Given the description of an element on the screen output the (x, y) to click on. 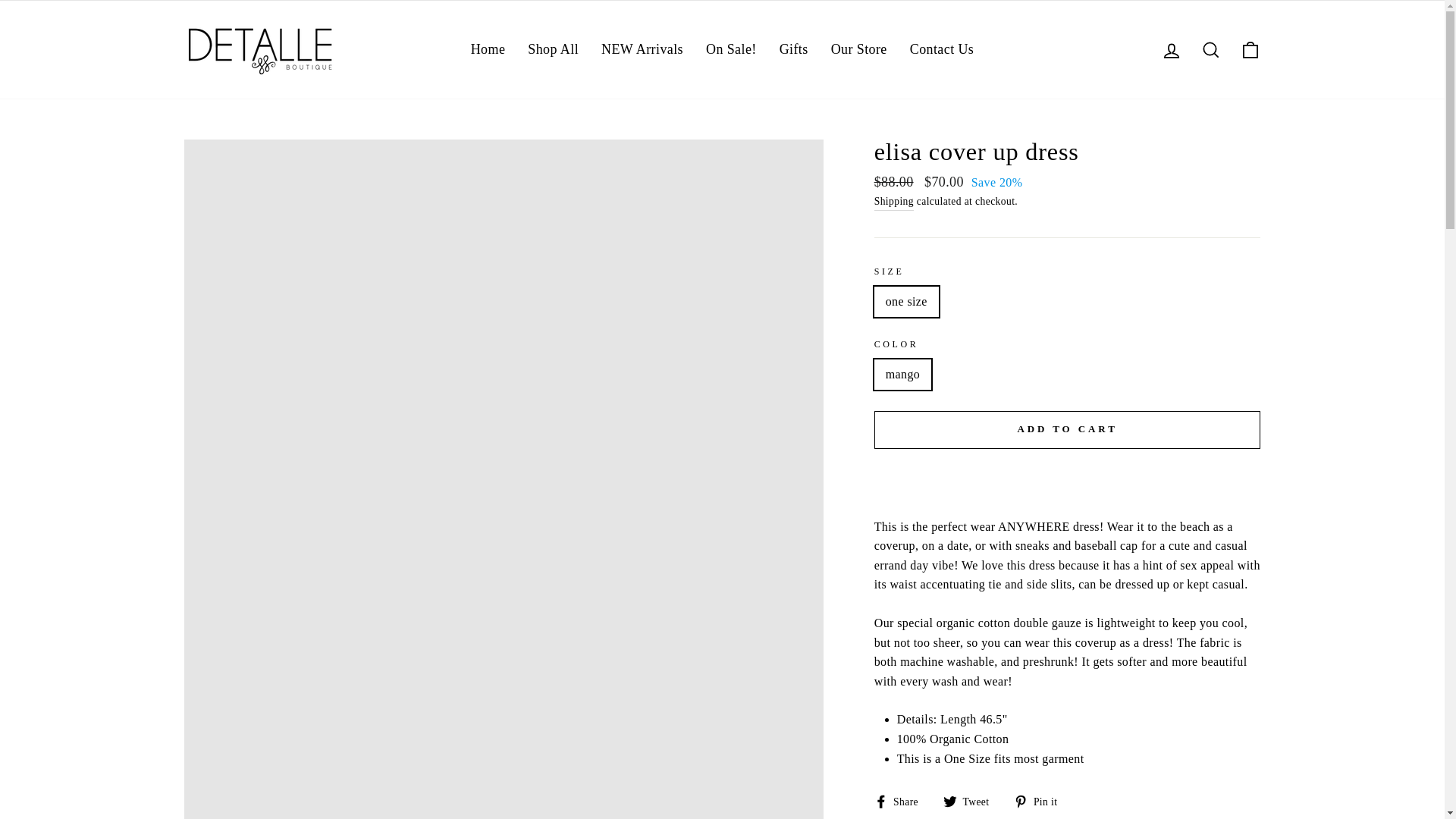
Pin on Pinterest (1040, 800)
Share on Facebook (902, 800)
Tweet on Twitter (971, 800)
